Given the description of an element on the screen output the (x, y) to click on. 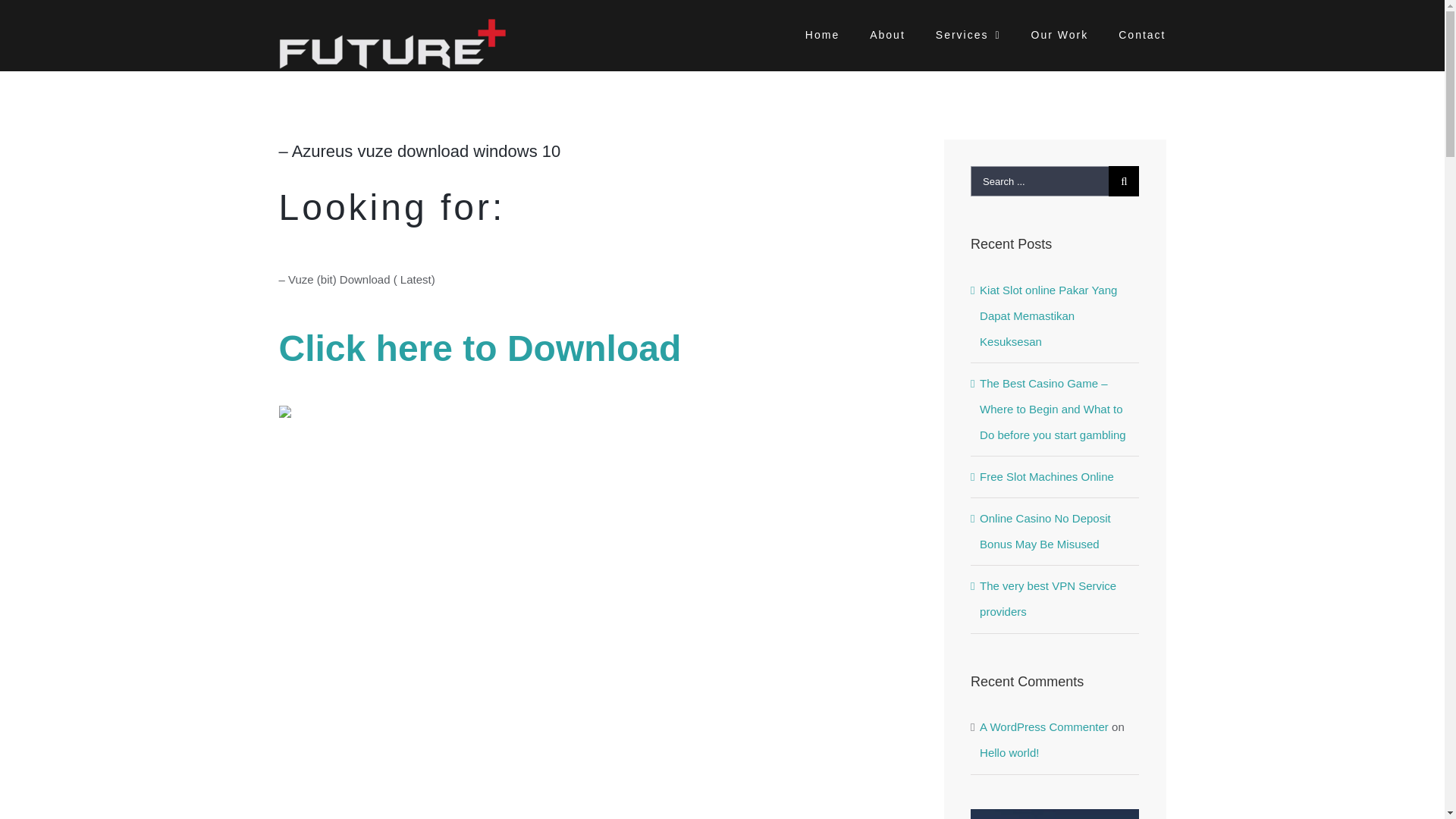
Click here to Download (480, 356)
Services (968, 33)
